Given the description of an element on the screen output the (x, y) to click on. 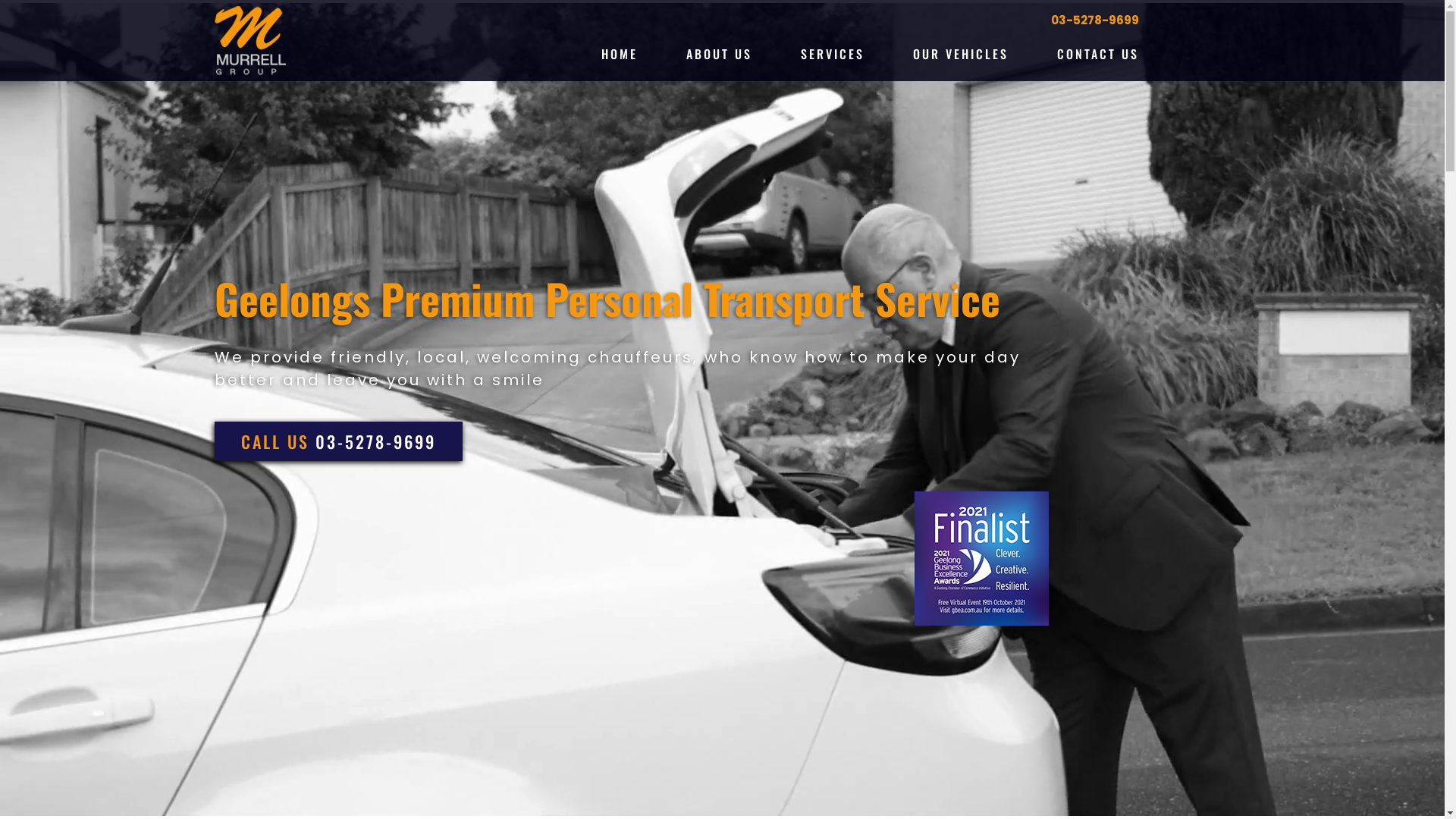
HOME Element type: text (619, 53)
CONTACT US Element type: text (1097, 53)
CALL US 03-5278-9699 Element type: text (337, 441)
OUR VEHICLES Element type: text (960, 53)
SERVICES Element type: text (832, 53)
ABOUT US Element type: text (719, 53)
03-5278-9699 Element type: text (789, 20)
